Given the description of an element on the screen output the (x, y) to click on. 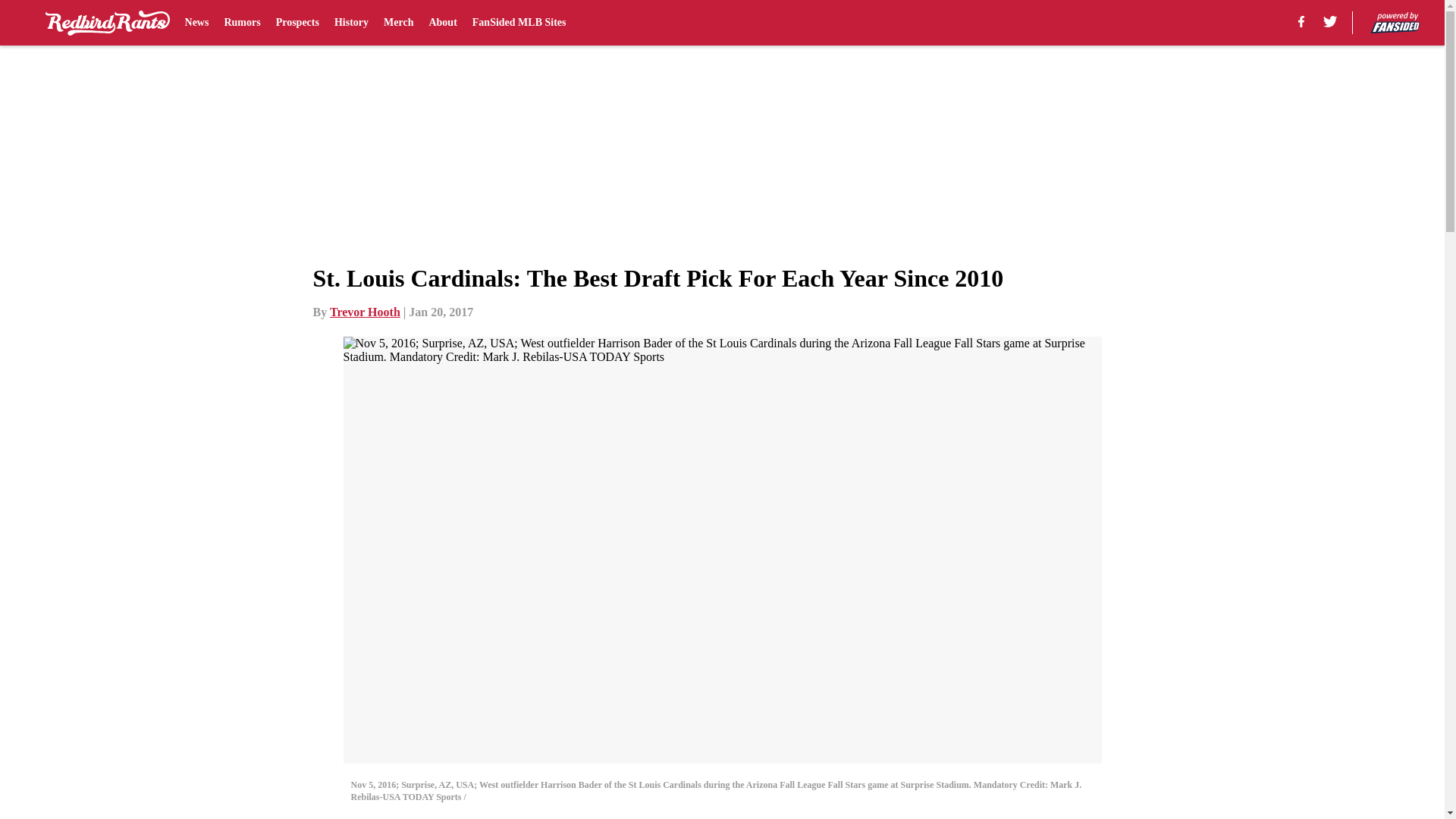
About (442, 22)
News (196, 22)
History (351, 22)
Trevor Hooth (365, 311)
Rumors (242, 22)
Merch (398, 22)
FanSided MLB Sites (518, 22)
Prospects (297, 22)
